Given the description of an element on the screen output the (x, y) to click on. 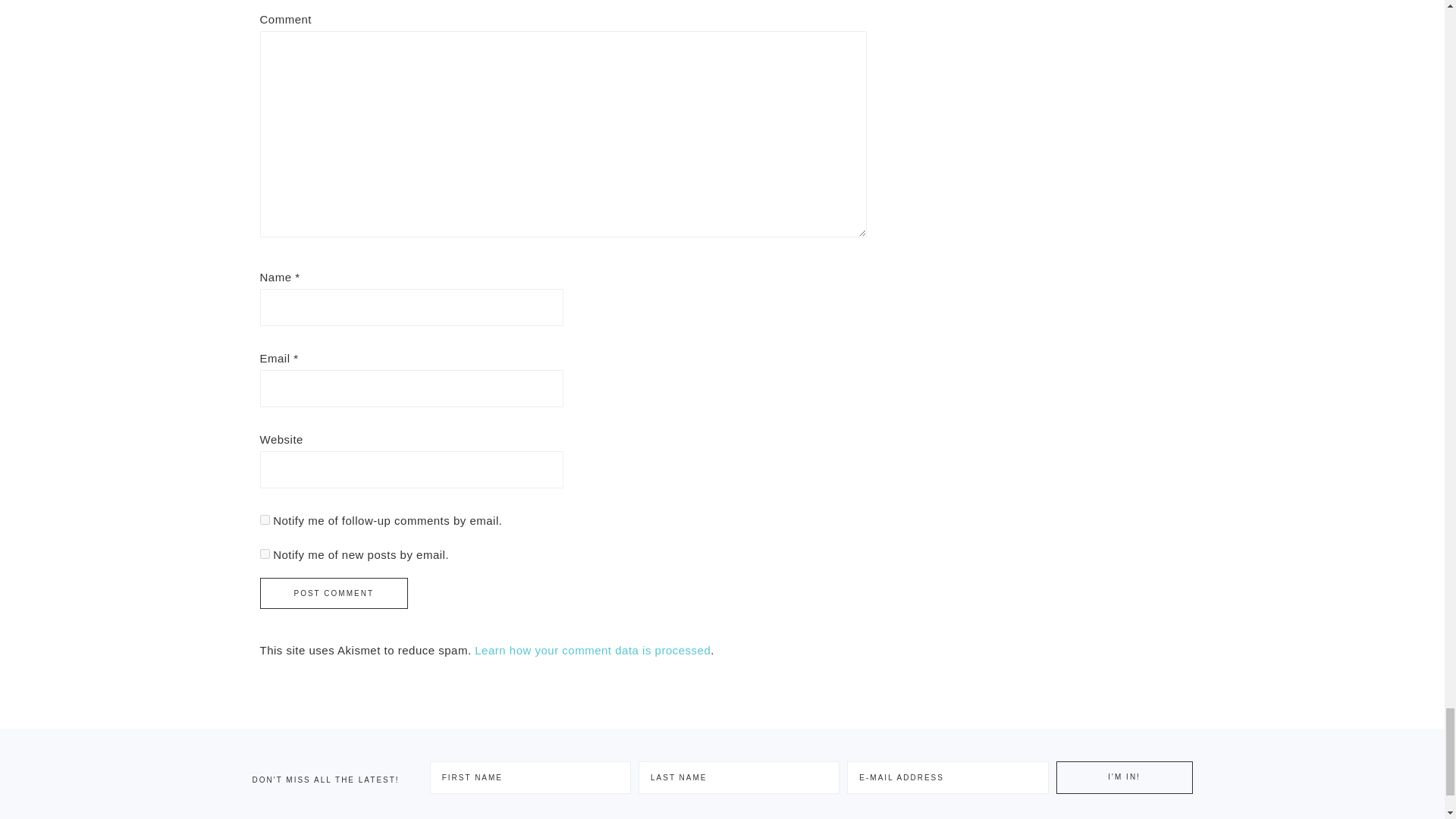
subscribe (264, 553)
subscribe (264, 519)
Post Comment (333, 593)
